Given the description of an element on the screen output the (x, y) to click on. 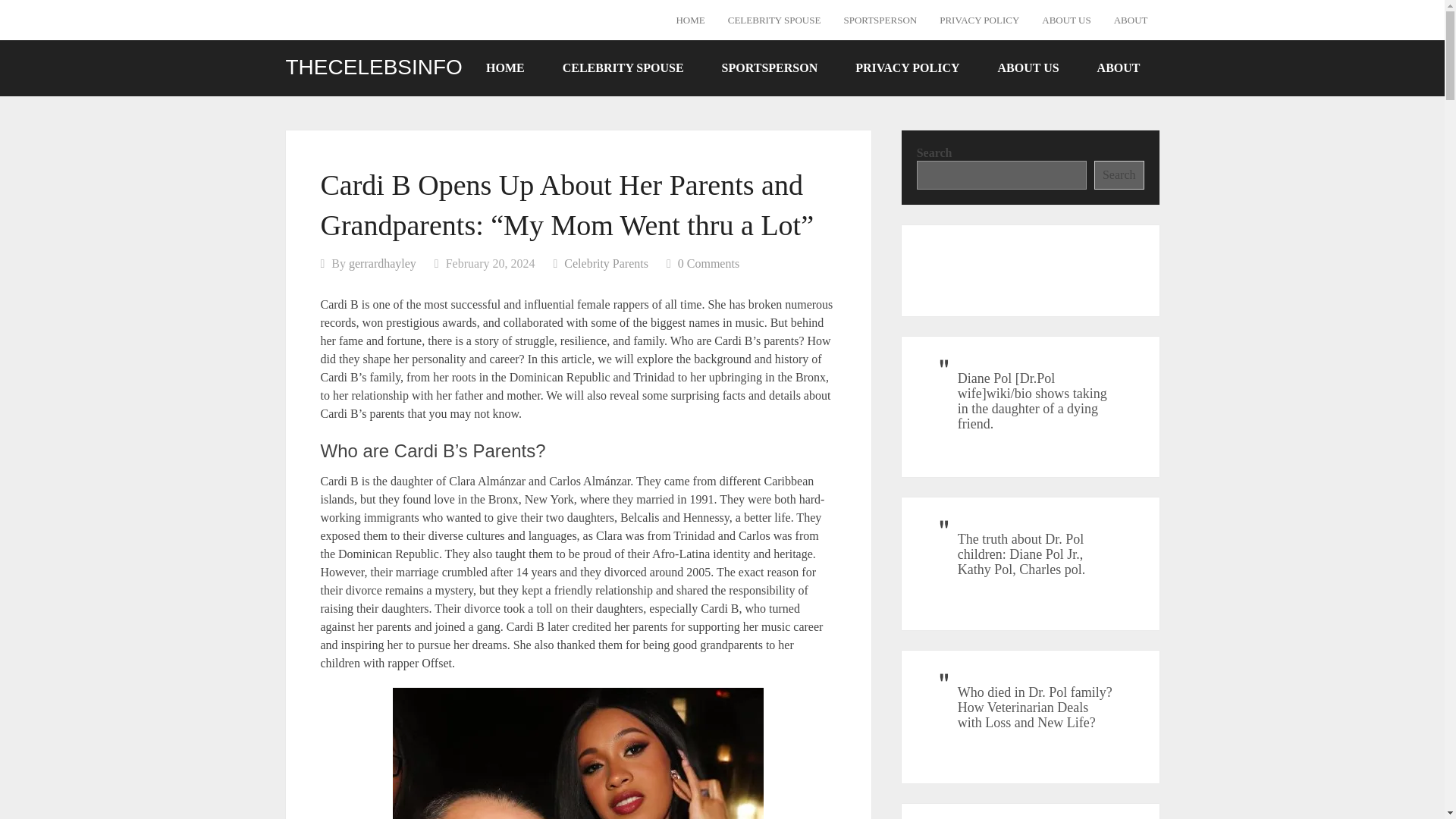
SPORTSPERSON (770, 67)
THECELEBSINFO (373, 66)
PRIVACY POLICY (906, 67)
gerrardhayley (382, 263)
HOME (689, 20)
ABOUT (1130, 20)
Search (1119, 174)
ABOUT (1118, 67)
ABOUT US (1028, 67)
Celebrity Parents (605, 263)
Posts by gerrardhayley (382, 263)
SPORTSPERSON (879, 20)
HOME (505, 67)
CELEBRITY SPOUSE (623, 67)
